Given the description of an element on the screen output the (x, y) to click on. 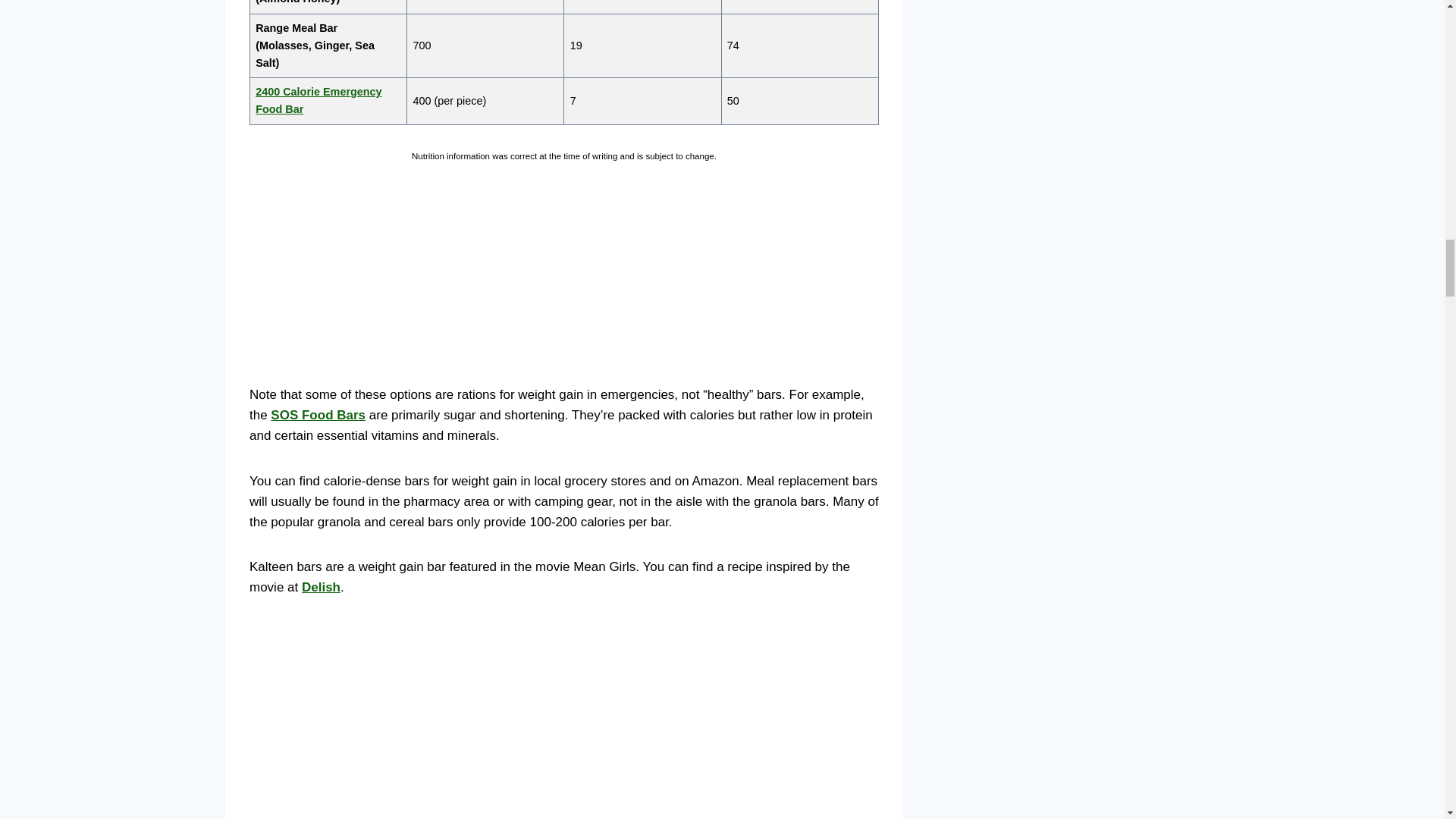
2400 Calorie Emergency (318, 91)
SOS Food Bars (317, 414)
Food Bar (279, 109)
Delish (320, 586)
